Given the description of an element on the screen output the (x, y) to click on. 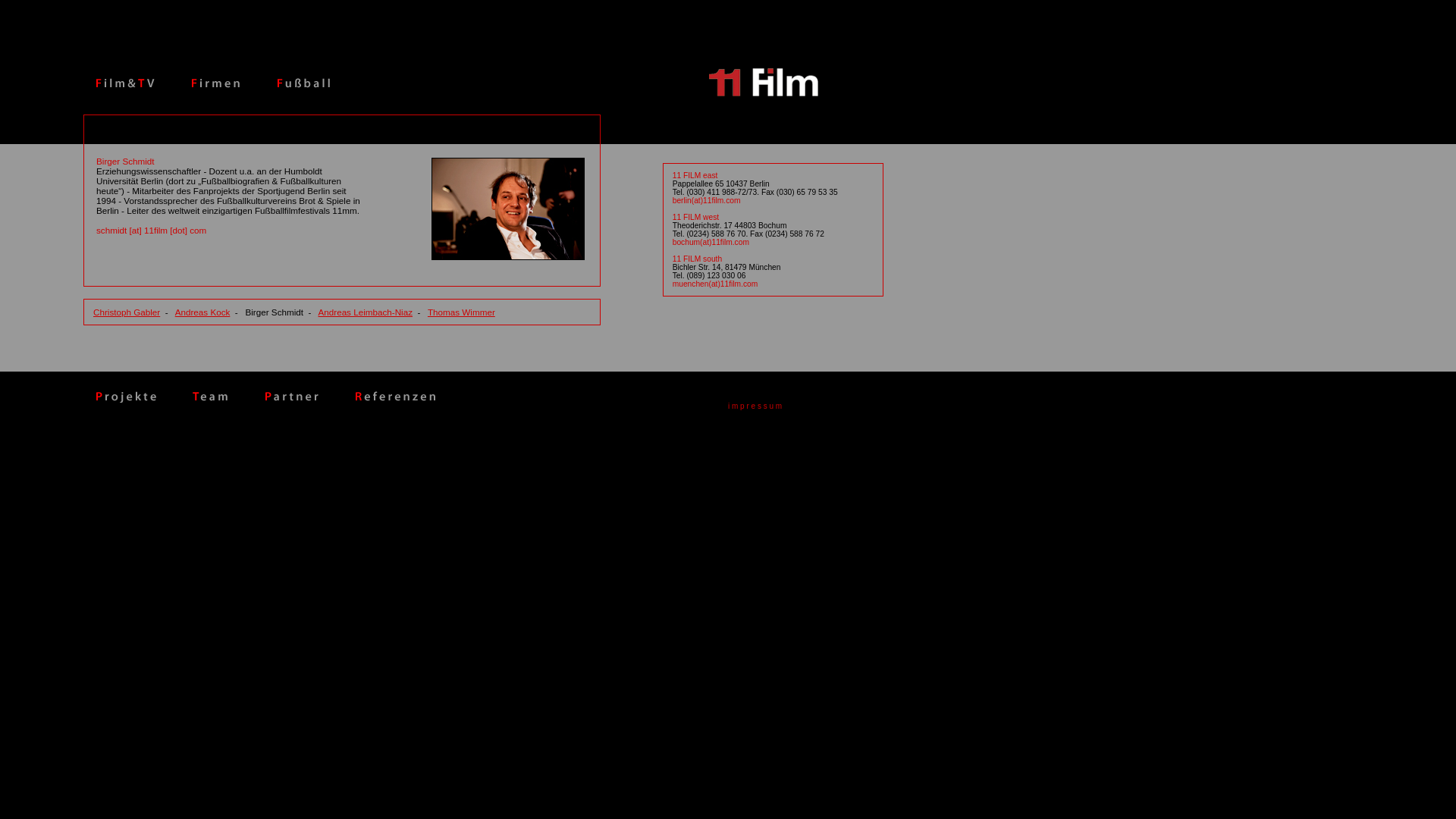
11 FILM east Element type: text (695, 175)
schmidt [at] 11film [dot] com Element type: text (151, 230)
berlin(at)11film.com Element type: text (706, 200)
i m p r e s s u m Element type: text (754, 405)
Thomas Wimmer Element type: text (461, 311)
11 FILM west Element type: text (695, 217)
Christoph Gabler Element type: text (126, 311)
Birger Schmidt Element type: text (125, 161)
Andreas Kock Element type: text (202, 311)
muenchen(at)11film.com Element type: text (715, 283)
Andreas Leimbach-Niaz Element type: text (364, 311)
bochum(at)11film.com Element type: text (710, 242)
11 FILM south Element type: text (696, 258)
